Given the description of an element on the screen output the (x, y) to click on. 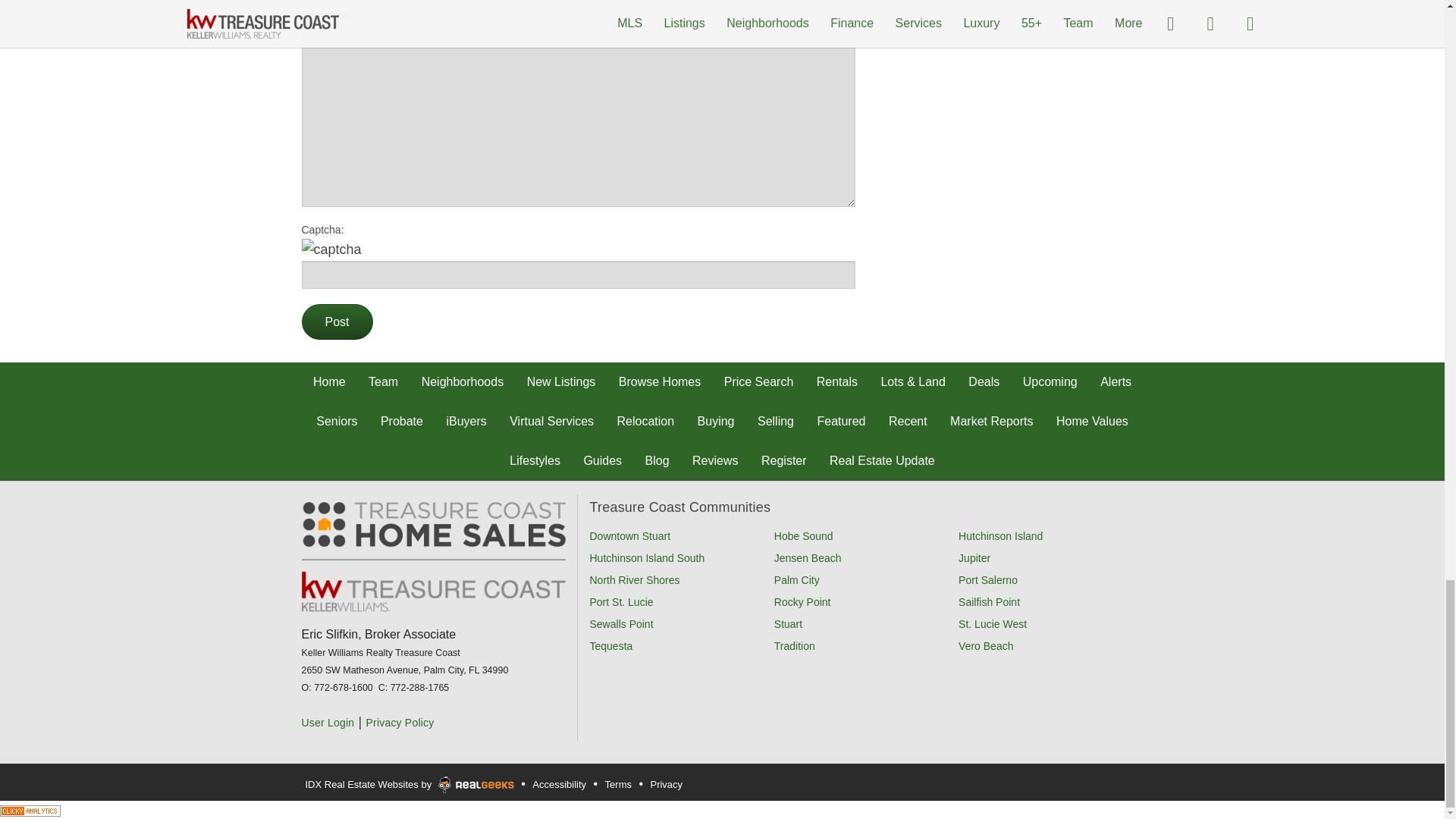
Keller Williams Privacy Policy (399, 722)
Post (336, 321)
Web Analytics (30, 809)
Post (336, 321)
User Login (328, 722)
